Given the description of an element on the screen output the (x, y) to click on. 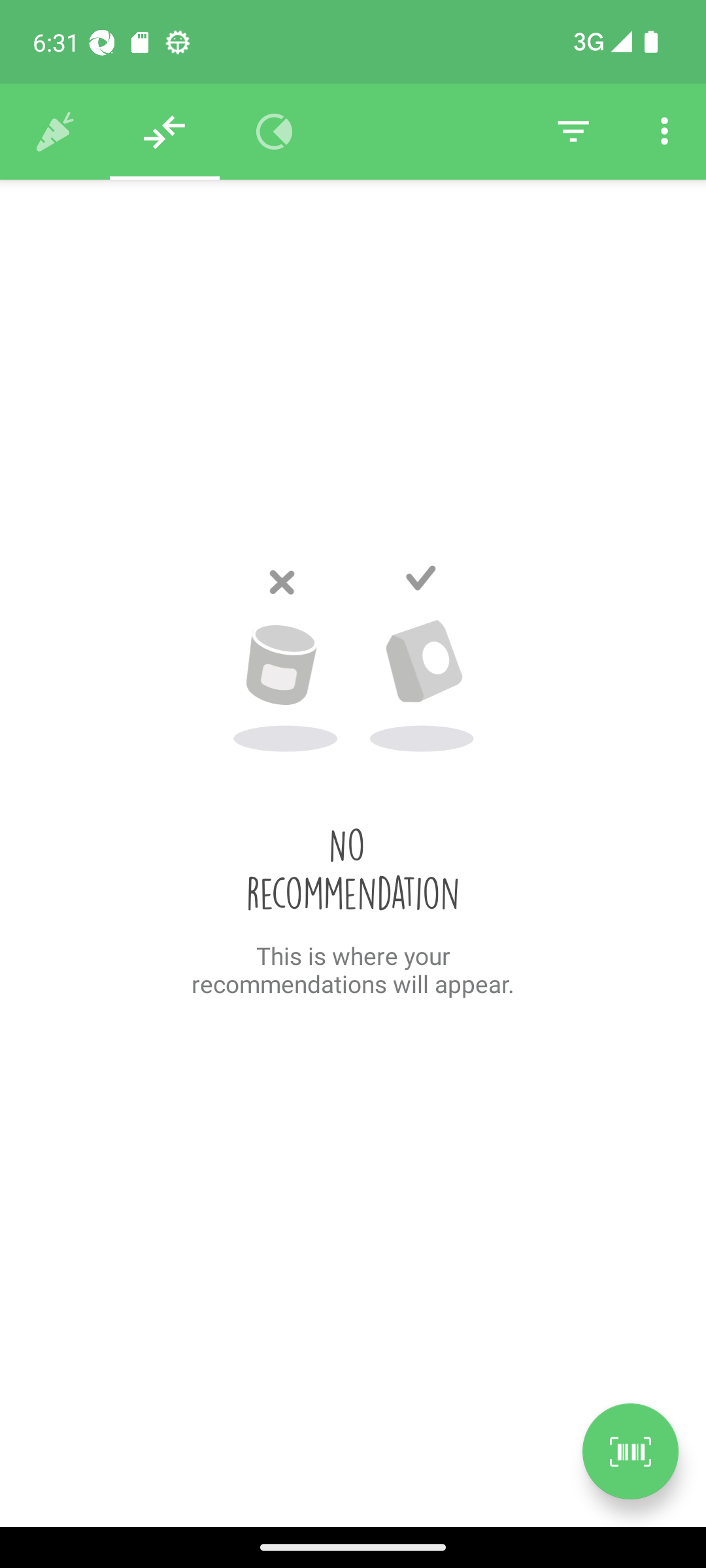
History (55, 131)
Overview (274, 131)
Filter (572, 131)
Settings (664, 131)
Scan a product (630, 1451)
